Given the description of an element on the screen output the (x, y) to click on. 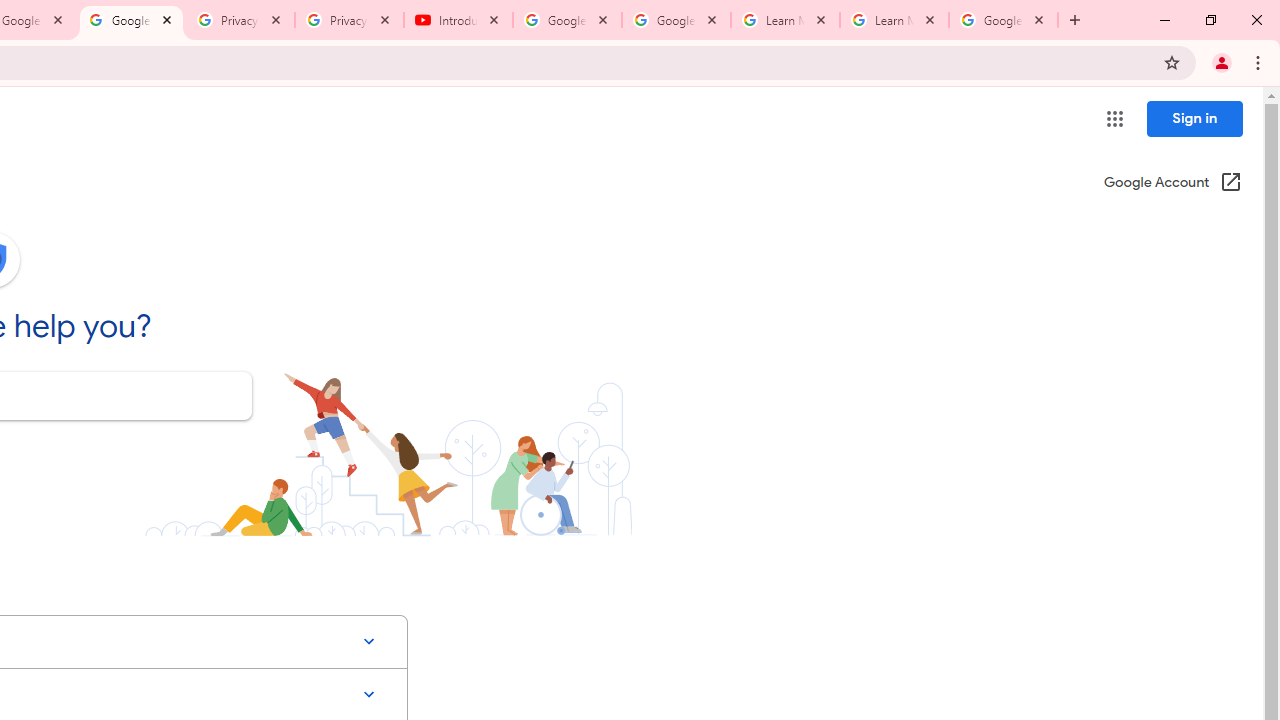
Google Account Help (676, 20)
Introduction | Google Privacy Policy - YouTube (458, 20)
Google Account (1003, 20)
Google Account (Open in a new window) (1172, 183)
